Given the description of an element on the screen output the (x, y) to click on. 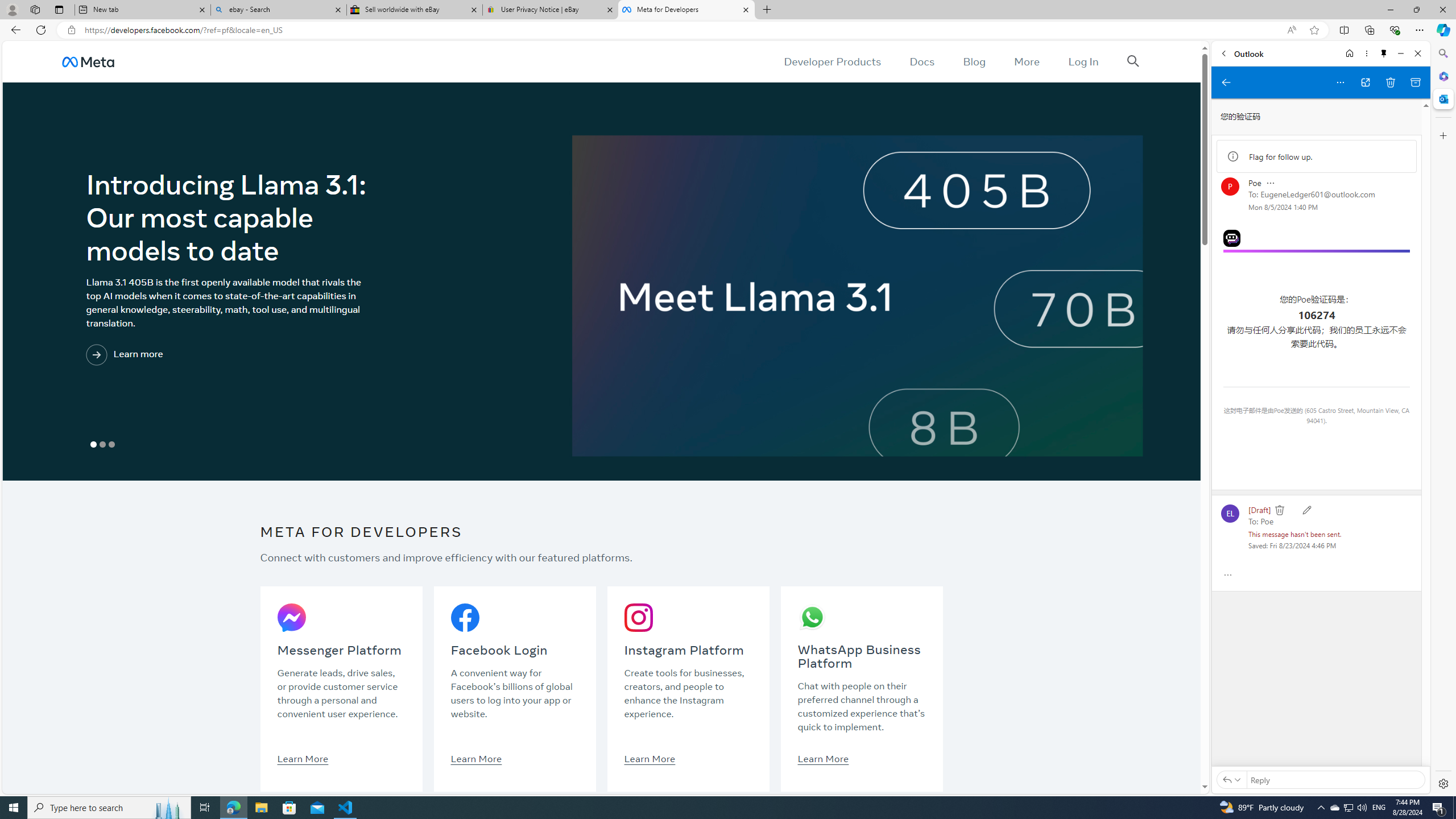
EugeneLedger601@outlook.com (1317, 194)
Learn More (822, 758)
Unpin side pane (1383, 53)
More (1027, 61)
Blog (974, 61)
Received on Mon 8/5/2024 1:40 PM (1282, 206)
Docs (922, 61)
Message actions (1269, 183)
Draft. message expanded. double tap to collapse (1259, 509)
User Privacy Notice | eBay (550, 9)
Contact card for Poe (1230, 186)
Customize (1442, 135)
